Given the description of an element on the screen output the (x, y) to click on. 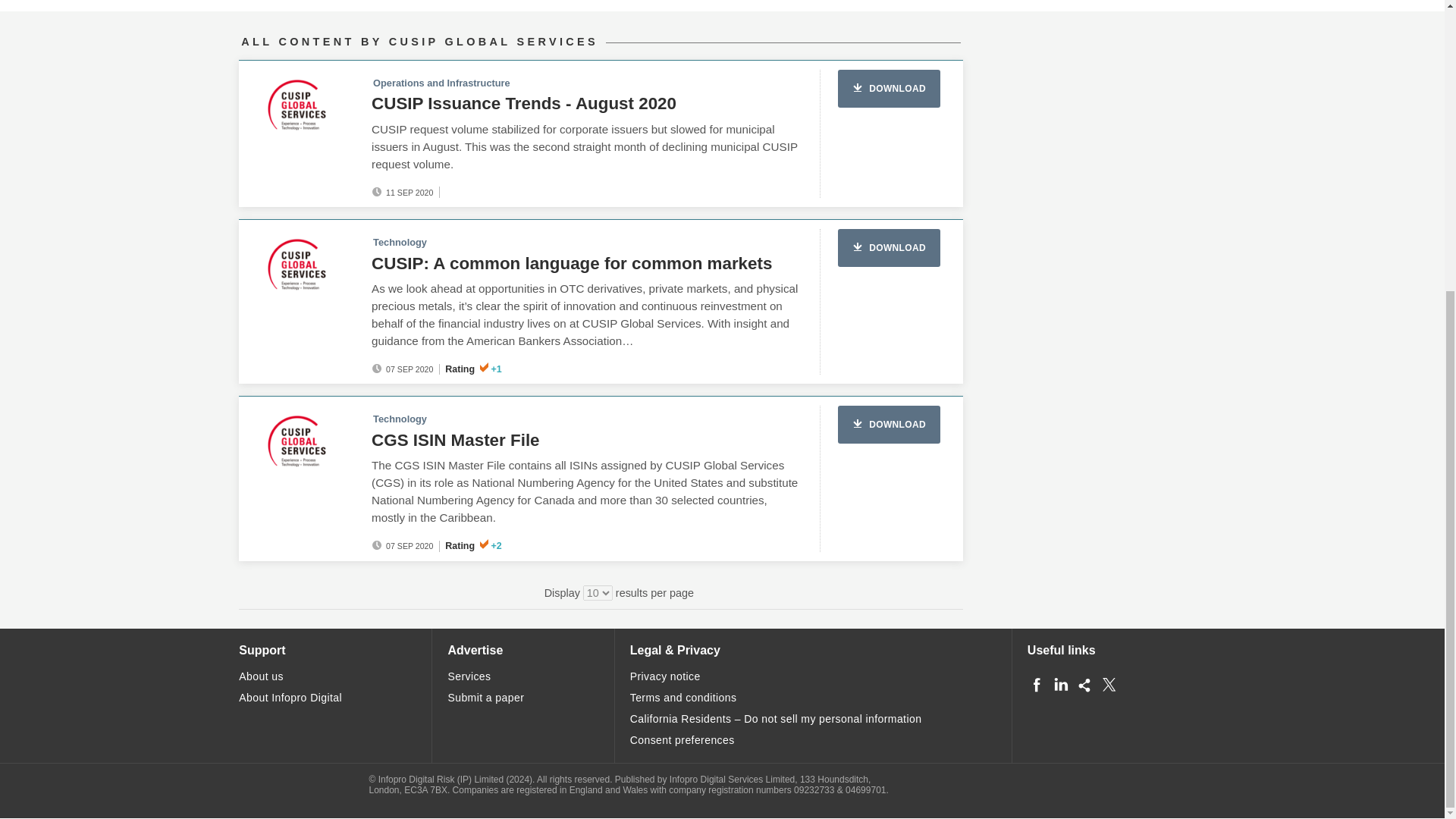
CUSIP: A common language for common markets (571, 262)
CUSIP Issuance Trends - August 2020 (524, 103)
CGS ISIN Master File (454, 439)
Operations and Infrastructure (441, 82)
CUSIP Issuance Trends - August 2020 (524, 103)
